Given the description of an element on the screen output the (x, y) to click on. 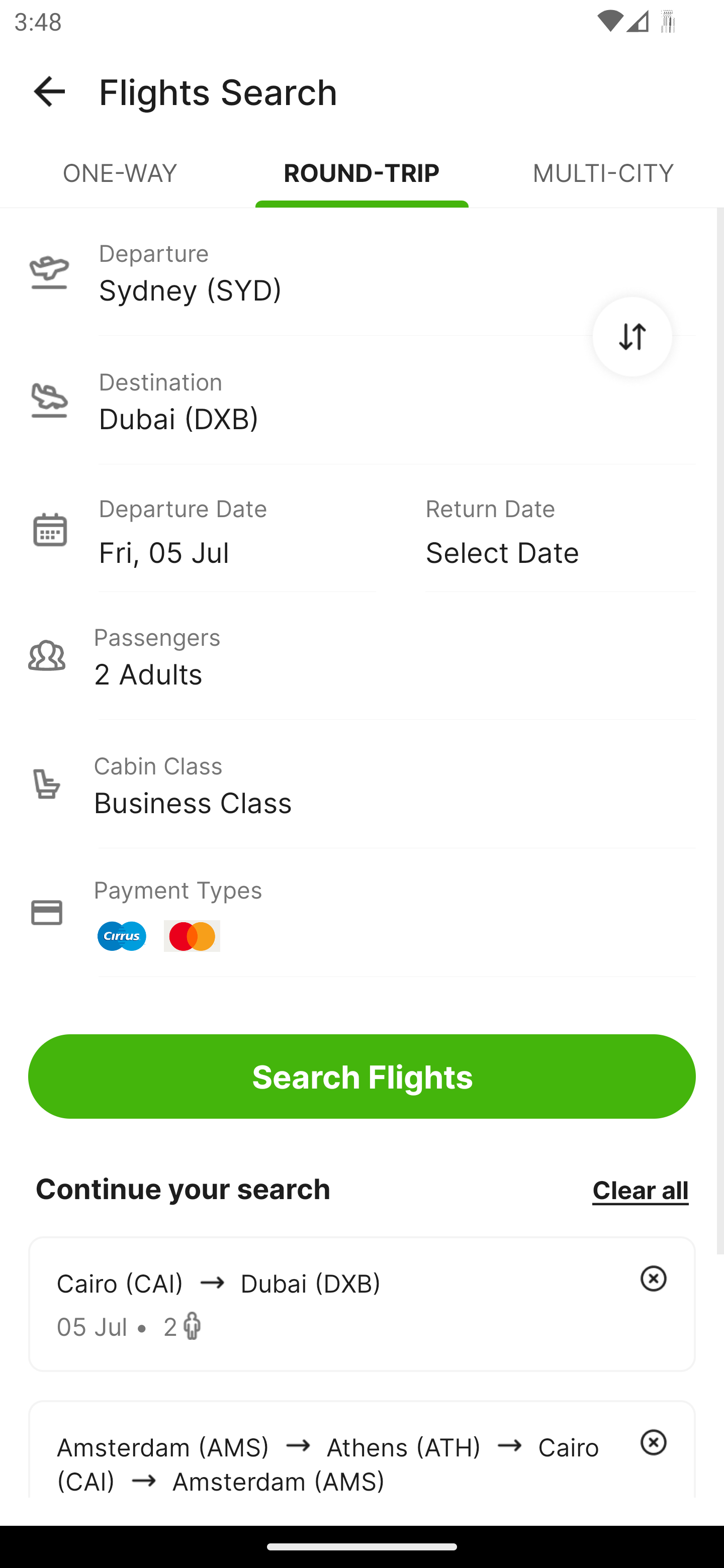
ONE-WAY (120, 180)
ROUND-TRIP (361, 180)
MULTI-CITY (603, 180)
Departure Sydney (SYD) (362, 270)
Destination Dubai (DXB) (362, 400)
Departure Date Fri, 05 Jul (247, 528)
Return Date Select Date (546, 528)
Passengers 2 Adults (362, 655)
Cabin Class Business Class (362, 783)
Payment Types (362, 912)
Search Flights (361, 1075)
Clear all (640, 1189)
Cairo (CAI)  arrowIcon  Dubai (DXB) 05 Jul •  2  (361, 1303)
